Given the description of an element on the screen output the (x, y) to click on. 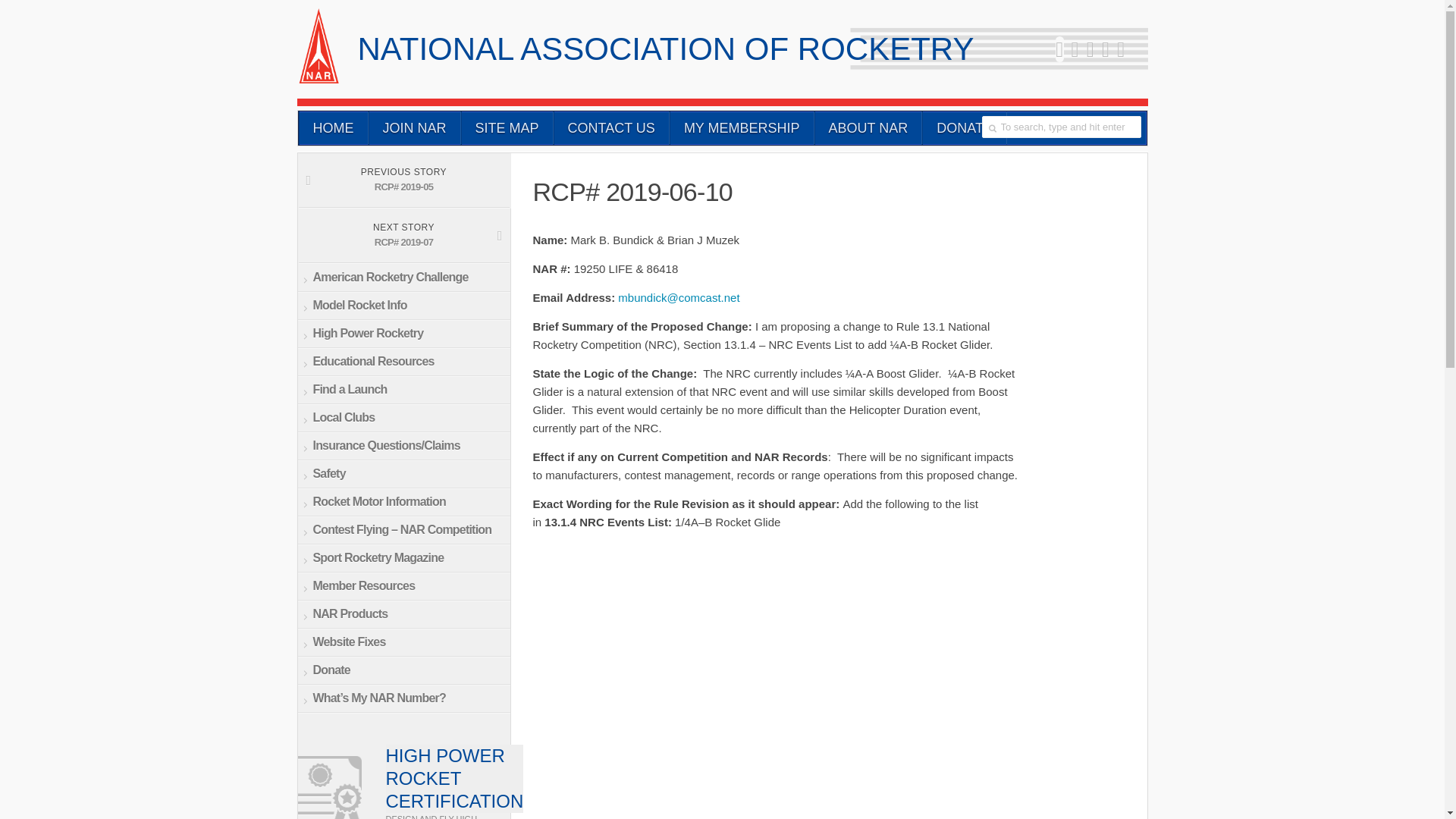
DONATE (964, 127)
To search, type and hit enter (1060, 127)
American Rocketry Challenge (403, 277)
MY MEMBERSHIP (741, 127)
CONTACT US (611, 127)
ABOUT NAR (868, 127)
To search, type and hit enter (1060, 127)
SITE MAP (507, 127)
Model Rocket Info (403, 305)
High Power Rocketry (403, 334)
